Given the description of an element on the screen output the (x, y) to click on. 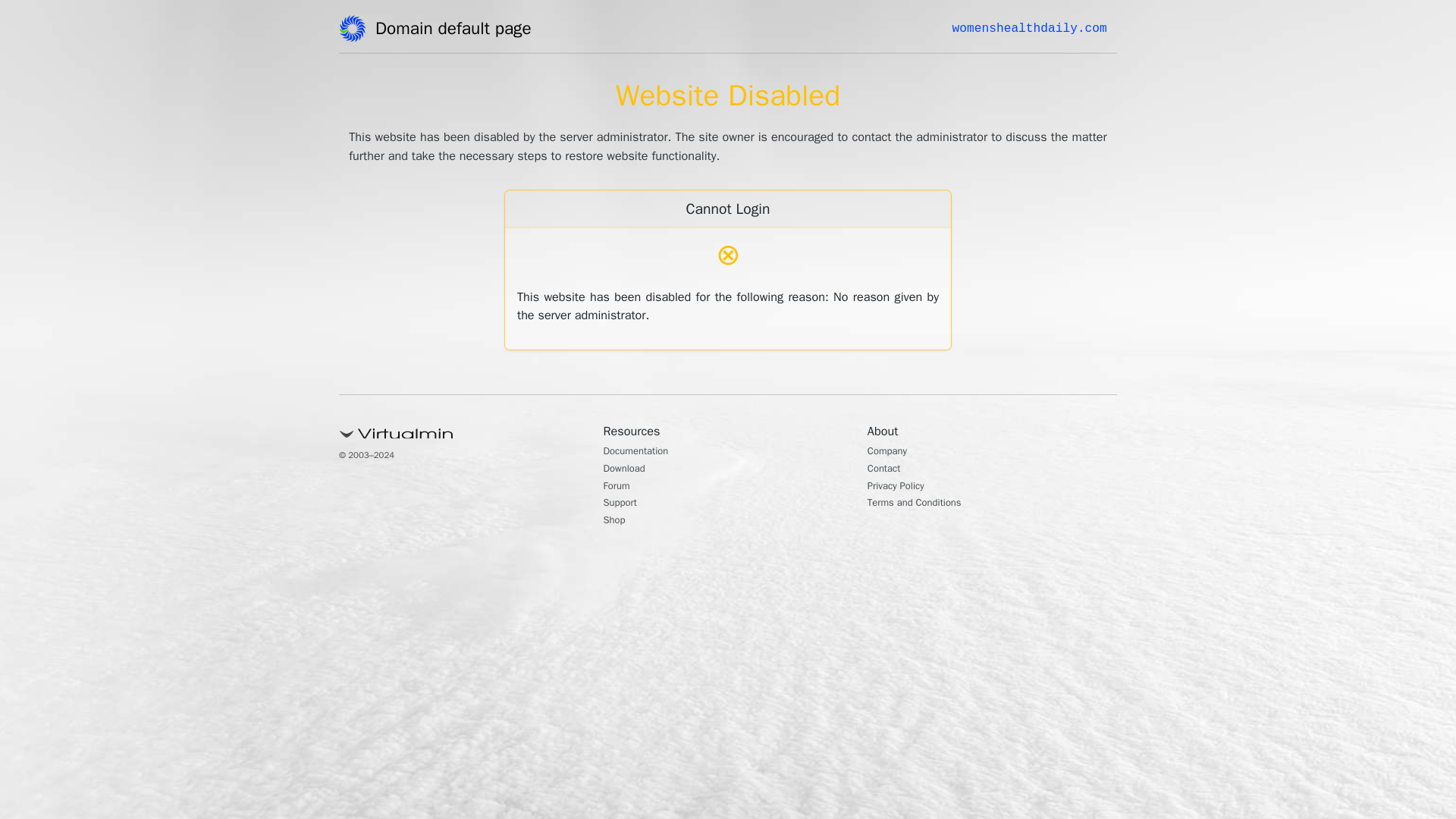
Shop (617, 521)
Privacy Policy (902, 487)
Terms and Conditions (925, 503)
Company (891, 452)
Documentation (644, 452)
Contact (887, 469)
Domain default page (457, 31)
Support (624, 503)
Download (629, 469)
Forum (620, 487)
